Given the description of an element on the screen output the (x, y) to click on. 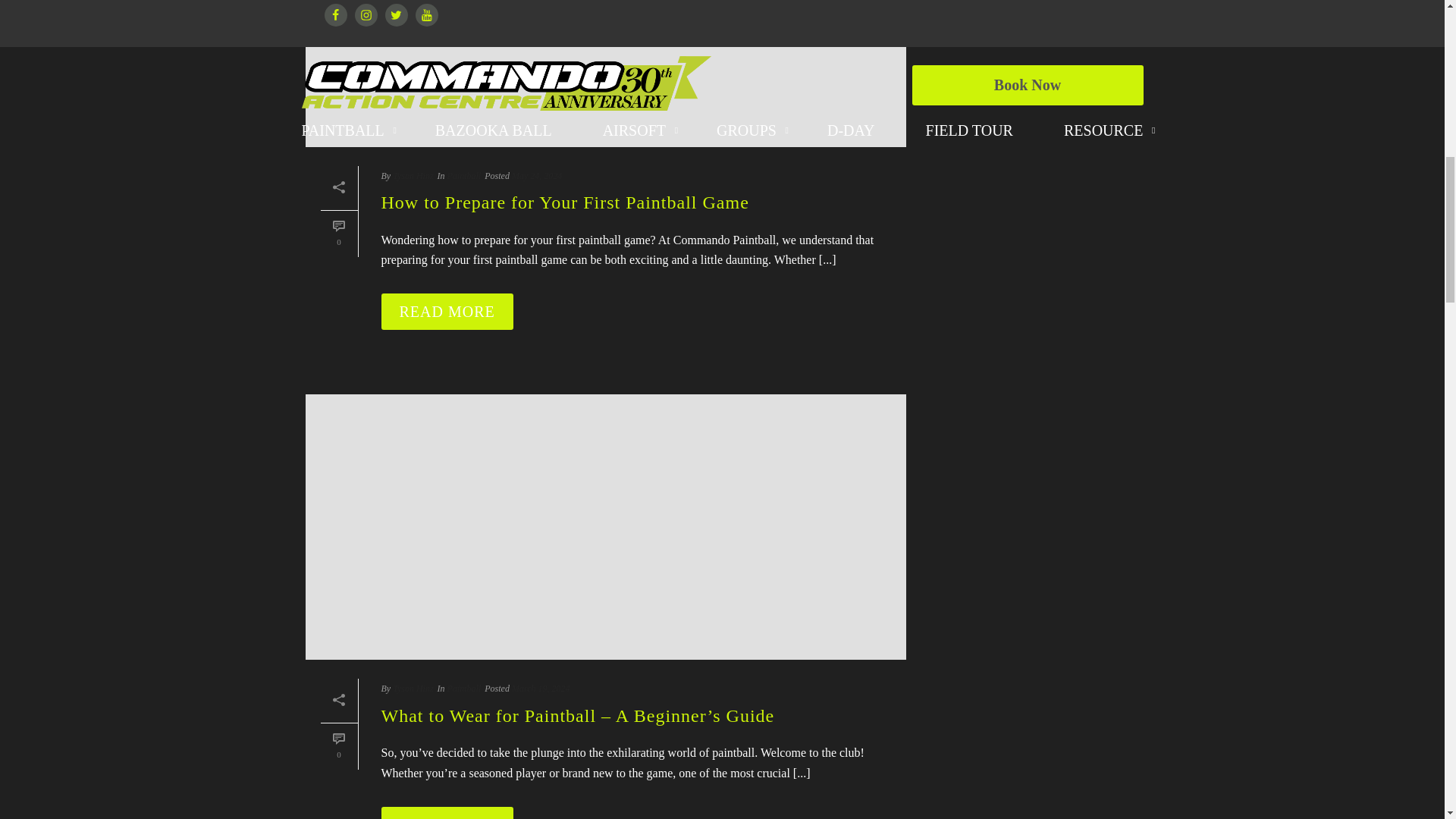
READ MORE (446, 311)
READ MORE (446, 812)
Posts by Tyson Hinz (412, 175)
How to Prepare for Your First Paintball Game (604, 73)
Posts by Tyson Hinz (412, 688)
